Given the description of an element on the screen output the (x, y) to click on. 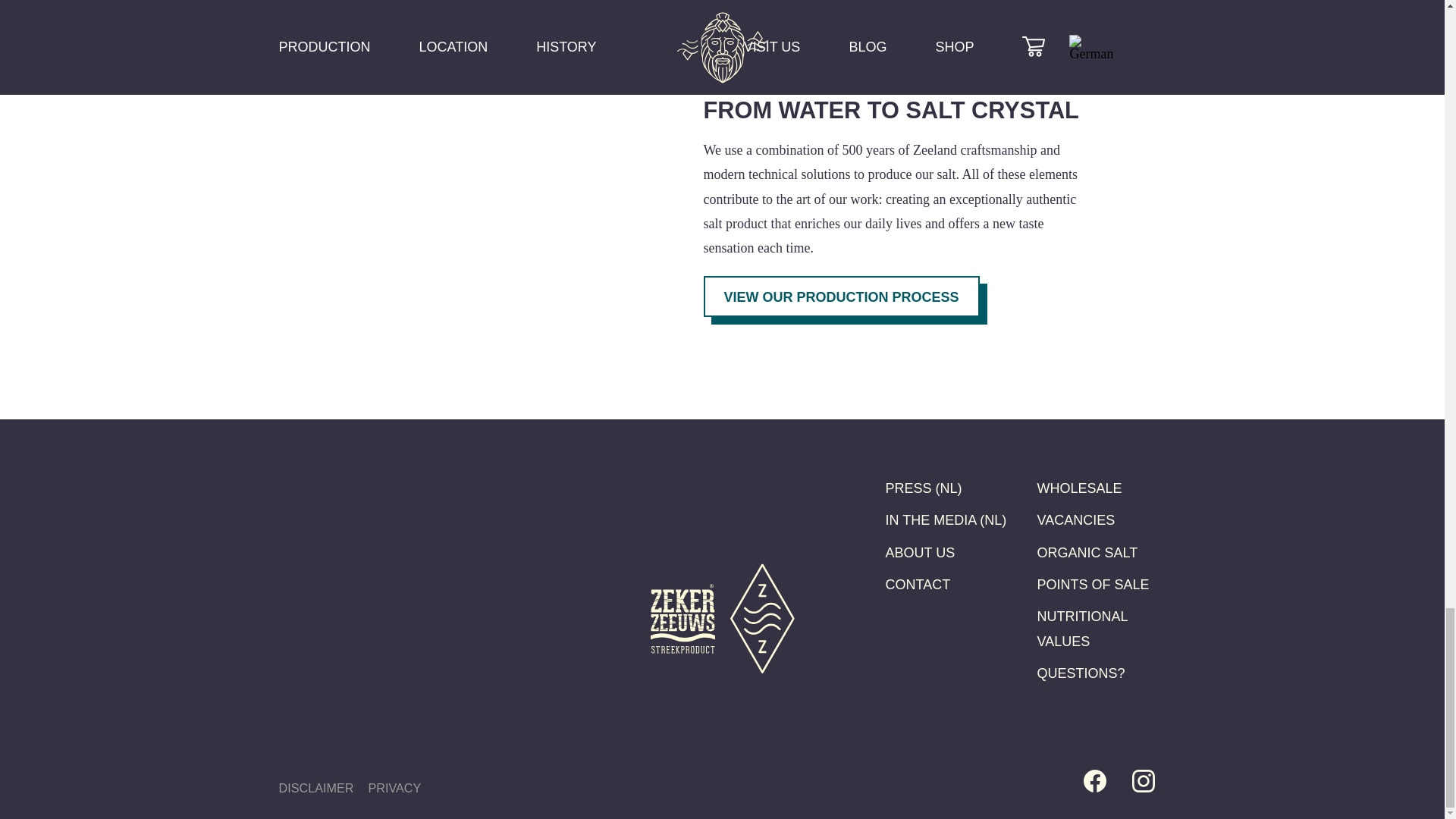
PRIVACY (394, 787)
WHOLESALE (1079, 487)
VACANCIES (1075, 519)
ABOUT US (920, 552)
ORGANIC SALT (1087, 552)
CONTACT (917, 584)
POINTS OF SALE (1093, 584)
DISCLAIMER (316, 787)
NUTRITIONAL VALUES (1101, 628)
QUESTIONS? (1080, 672)
VIEW OUR PRODUCTION PROCESS (841, 296)
MORE ABOUT THE LOCATION (472, 18)
